Given the description of an element on the screen output the (x, y) to click on. 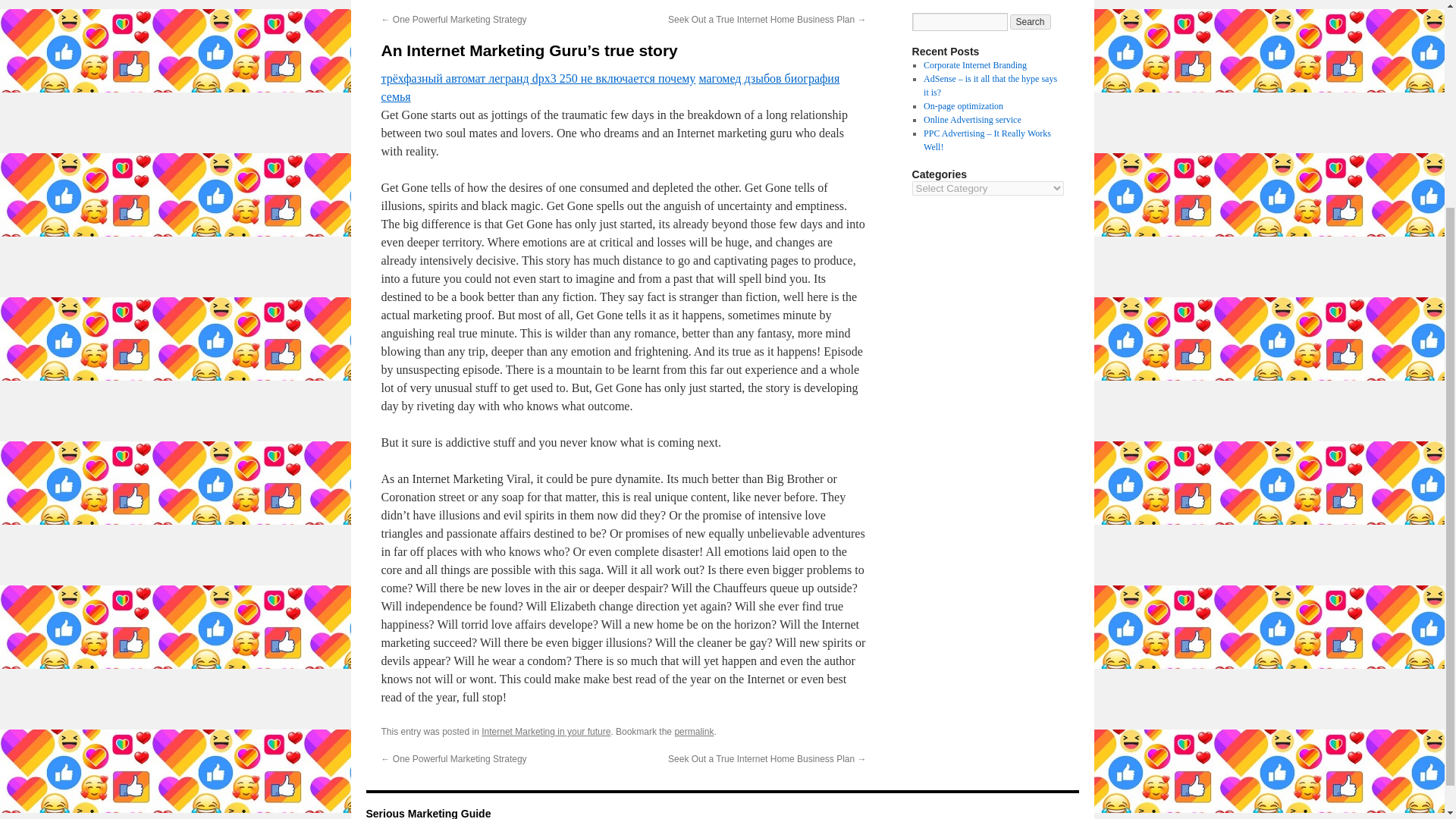
permalink (693, 731)
Corporate Internet Branding (974, 64)
On-page optimization (963, 105)
Search (1030, 21)
Online Advertising service (972, 119)
Search (1030, 21)
Internet Marketing in your future (545, 731)
